Given the description of an element on the screen output the (x, y) to click on. 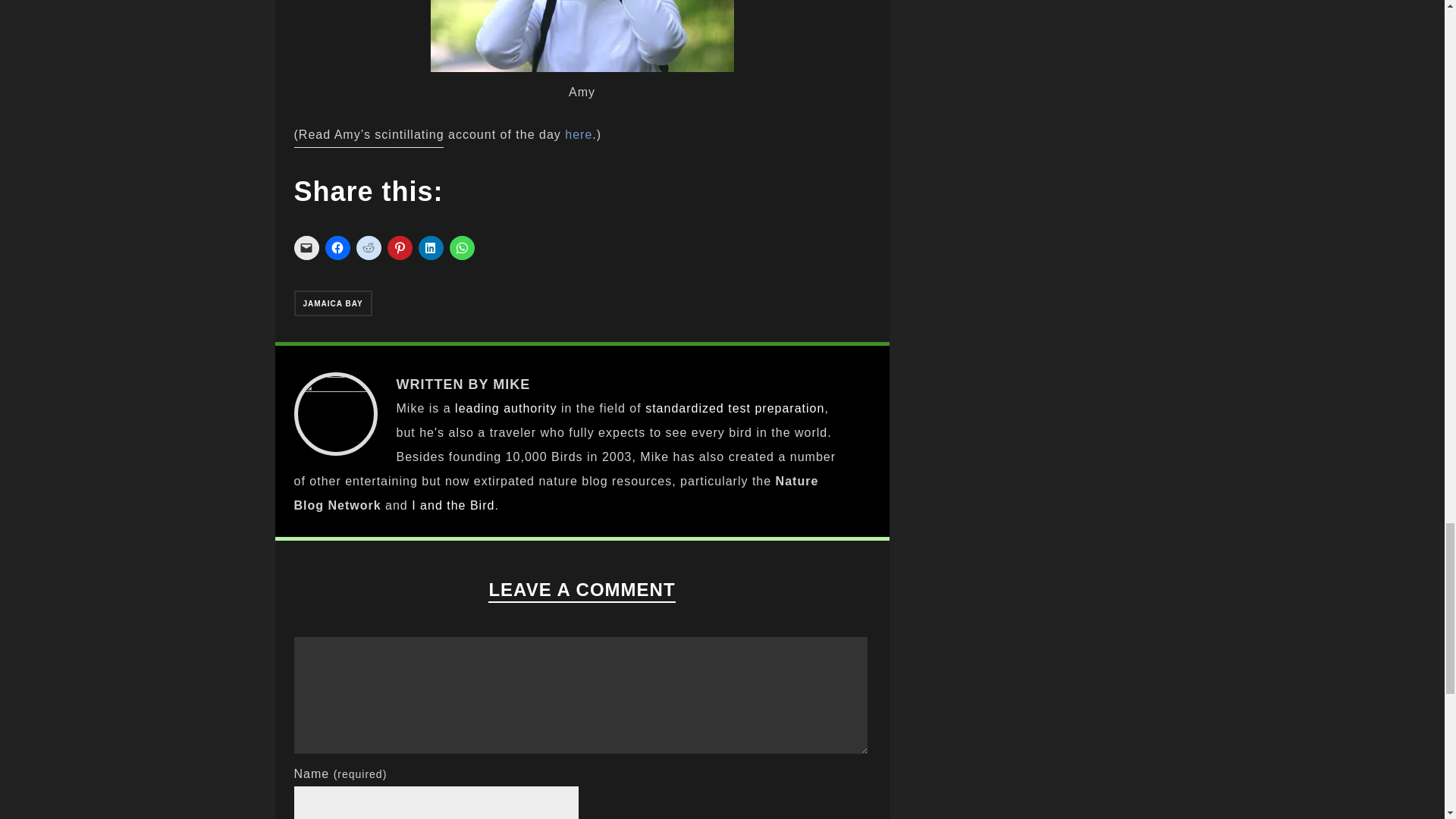
JAMAICA BAY (333, 303)
Click to share on Facebook (336, 247)
standardized test preparation (734, 408)
Click to share on WhatsApp (461, 247)
here (578, 133)
Click to share on Reddit (368, 247)
I and the Bird (453, 504)
Amy Hooper (581, 36)
Click to share on Pinterest (399, 247)
authority (529, 408)
Click to share on LinkedIn (431, 247)
leading (476, 408)
Click to email a link to a friend (306, 247)
